Given the description of an element on the screen output the (x, y) to click on. 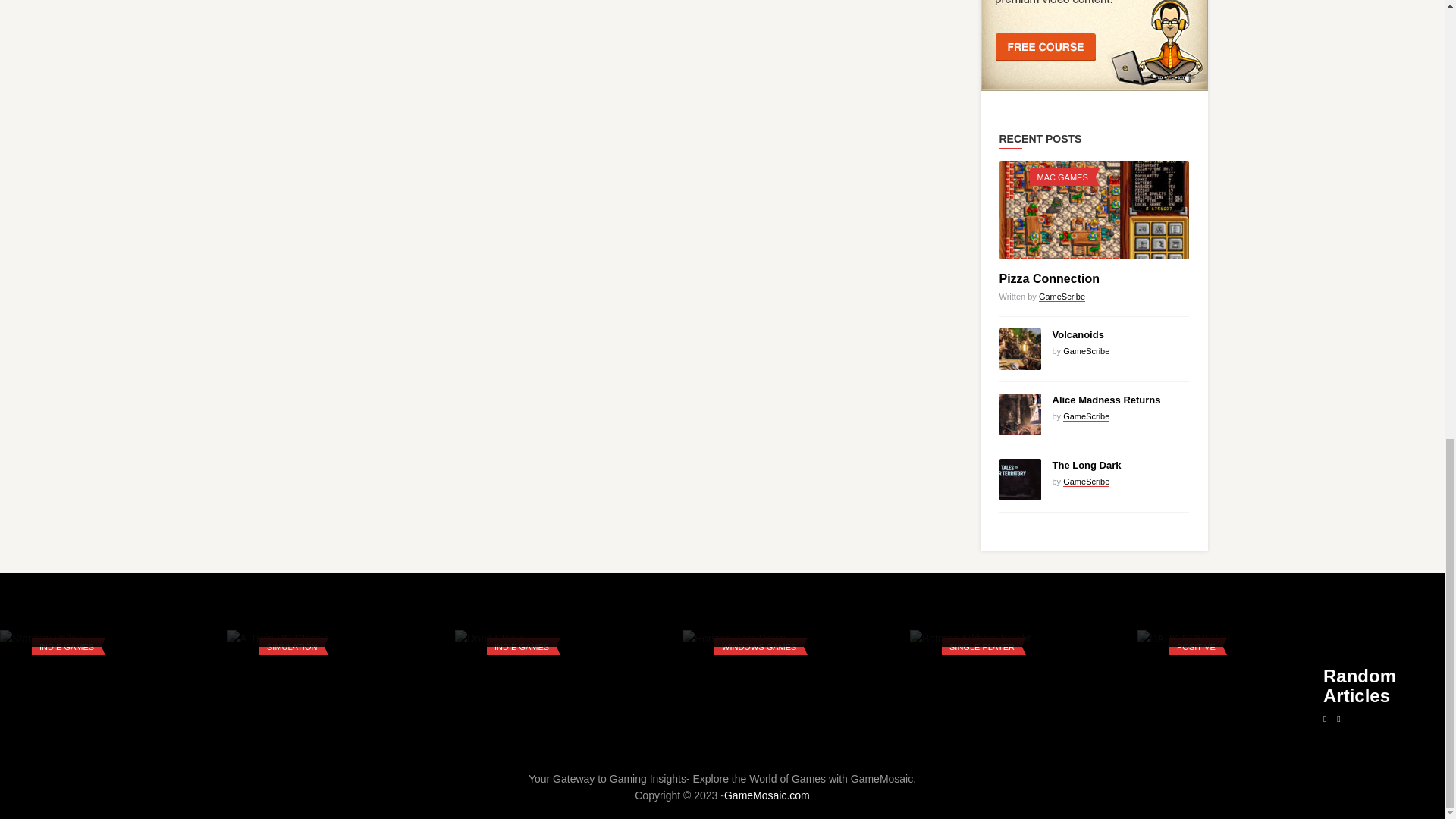
Posts by GameScribe (1085, 416)
View all posts in Mac Games (1061, 176)
Posts by GameScribe (1061, 296)
Posts by GameScribe (1085, 481)
View all posts in Indie Games (66, 646)
Posts by GameScribe (1085, 351)
